Given the description of an element on the screen output the (x, y) to click on. 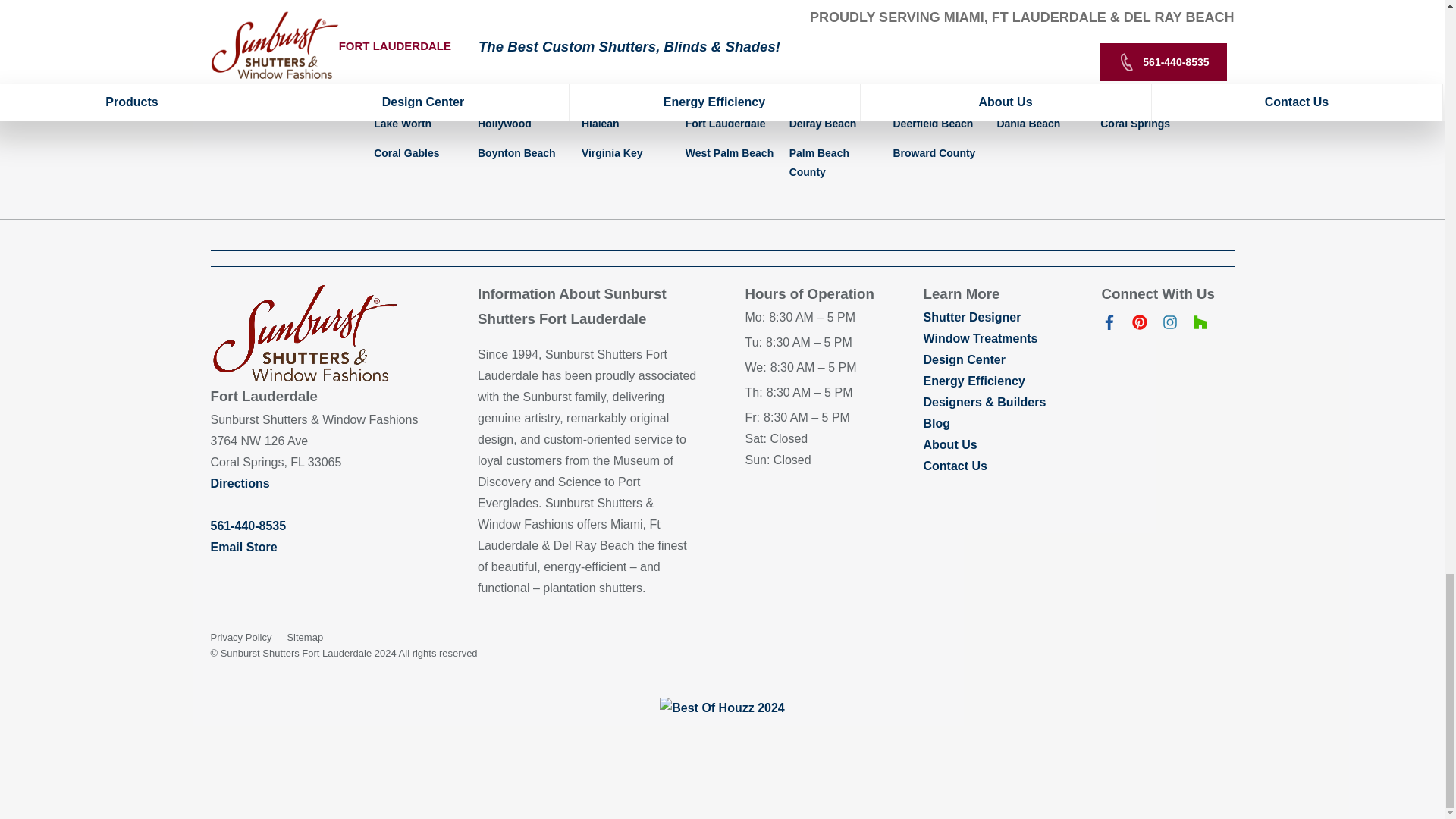
Follow us on Instagram (1168, 325)
Save us on Houzz (1199, 325)
Like us on Facebook (1108, 325)
Follow us on Pinterest (1139, 325)
Best Of Houzz 2024 (721, 708)
